Given the description of an element on the screen output the (x, y) to click on. 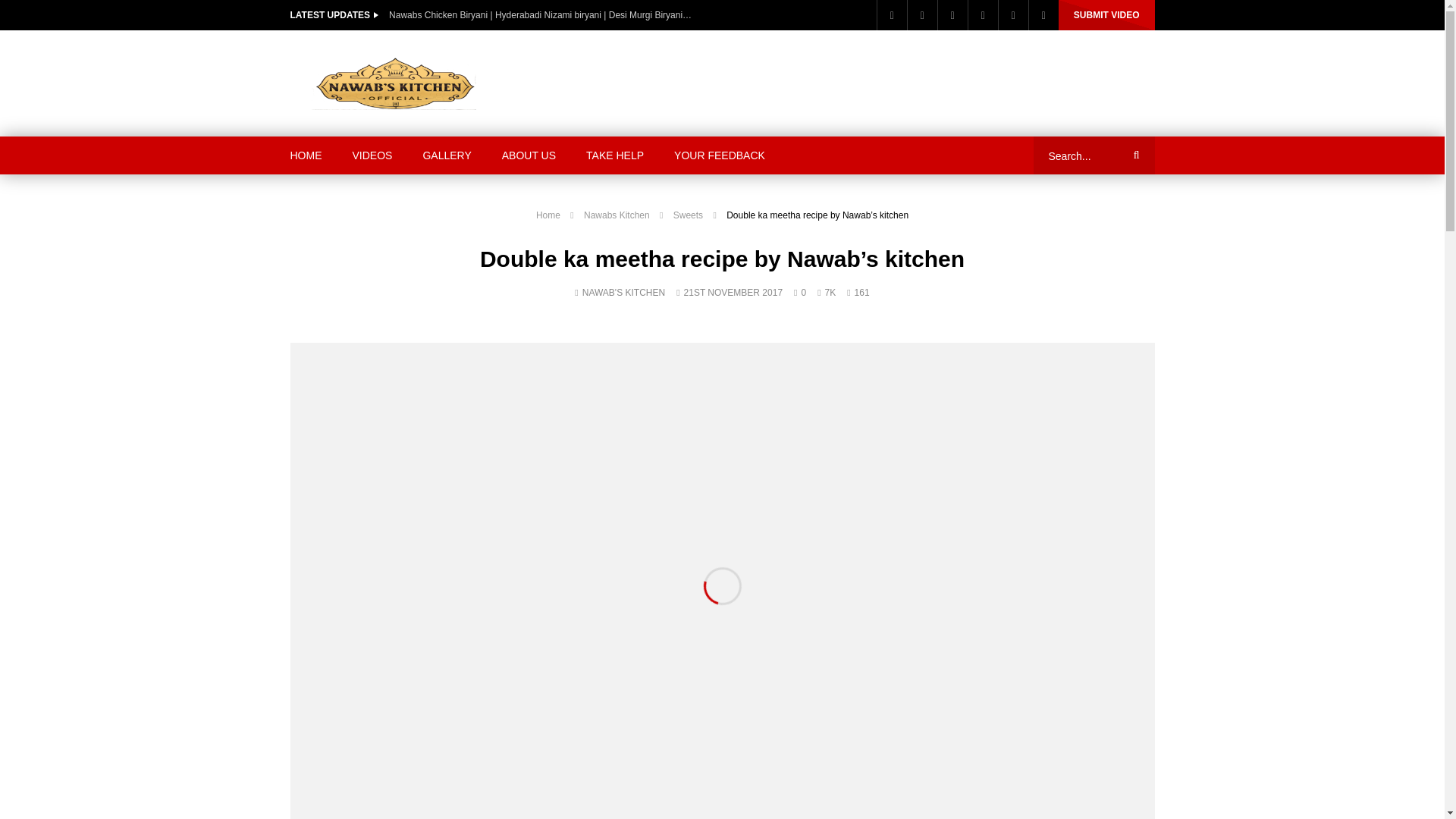
GALLERY (446, 155)
SUBMIT VIDEO (1106, 15)
Twitter (922, 15)
Search (1133, 155)
Home (547, 214)
TAKE HELP (614, 155)
Nawabs Kitchen (616, 214)
YOUR FEEDBACK (719, 155)
Notifications (1042, 15)
NAWAB'S KITCHEN (623, 292)
VIDEOS (371, 155)
Sweets (687, 214)
Search (1133, 155)
NawabsKitchen (397, 82)
ABOUT US (528, 155)
